Given the description of an element on the screen output the (x, y) to click on. 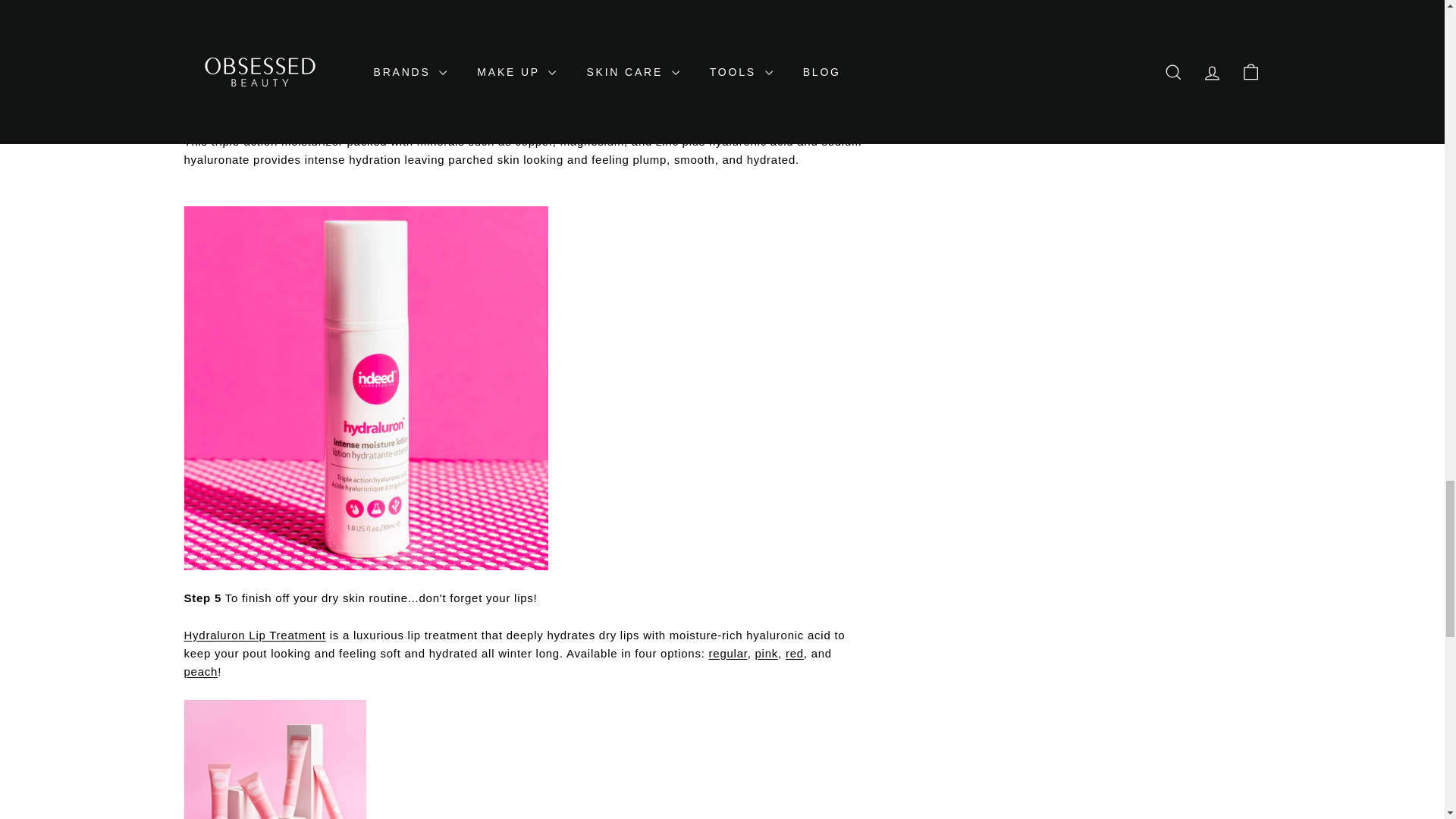
Indeed Labs Hydraluron Moisture Jelly  (523, 36)
Indeed Labs Hydraluron Intense Moisture Lotion (689, 103)
